Given the description of an element on the screen output the (x, y) to click on. 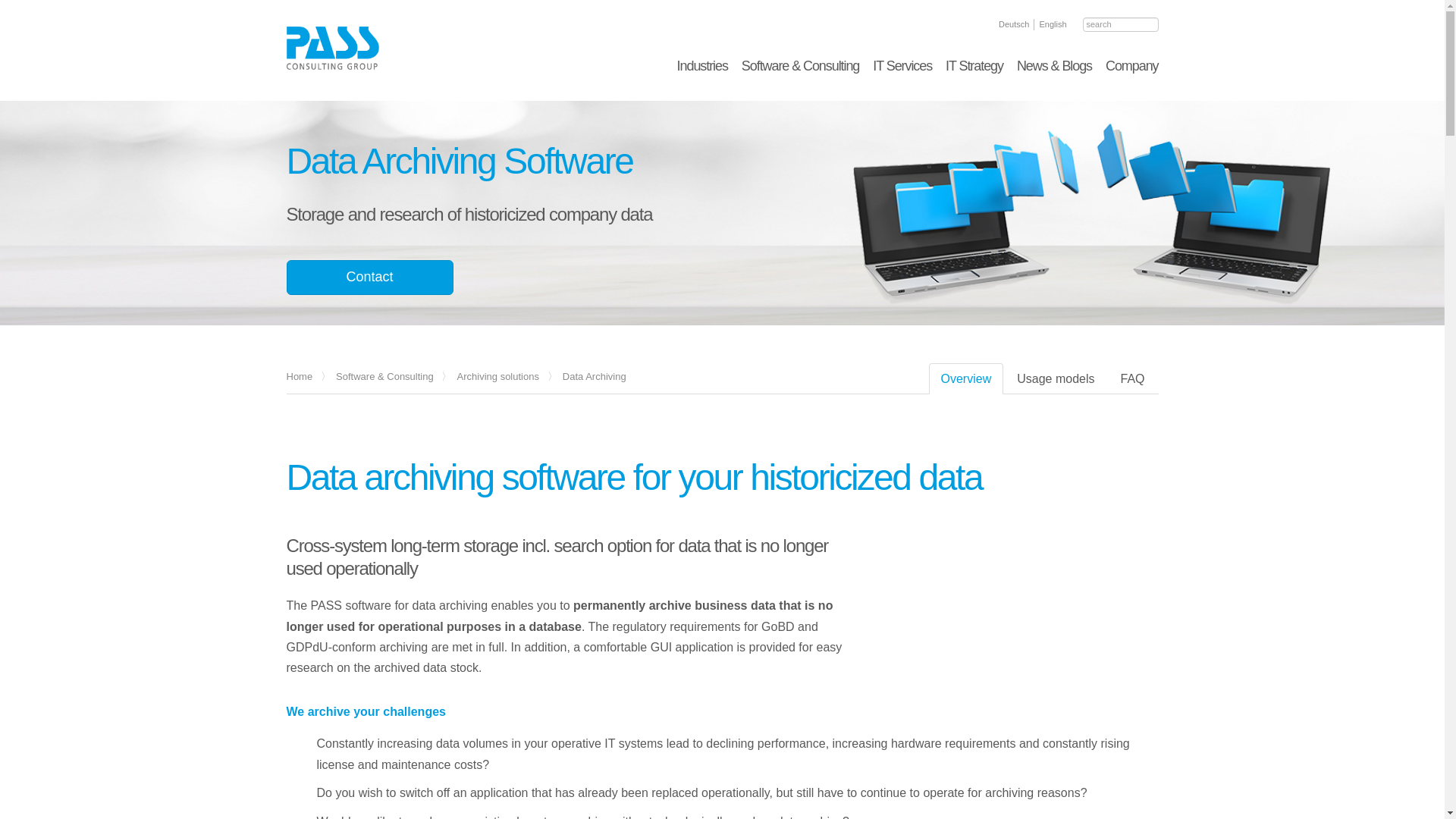
IT Services (901, 65)
Return to start page (332, 47)
Industries (702, 65)
Deutsch (1013, 23)
IT Strategy (973, 65)
